Given the description of an element on the screen output the (x, y) to click on. 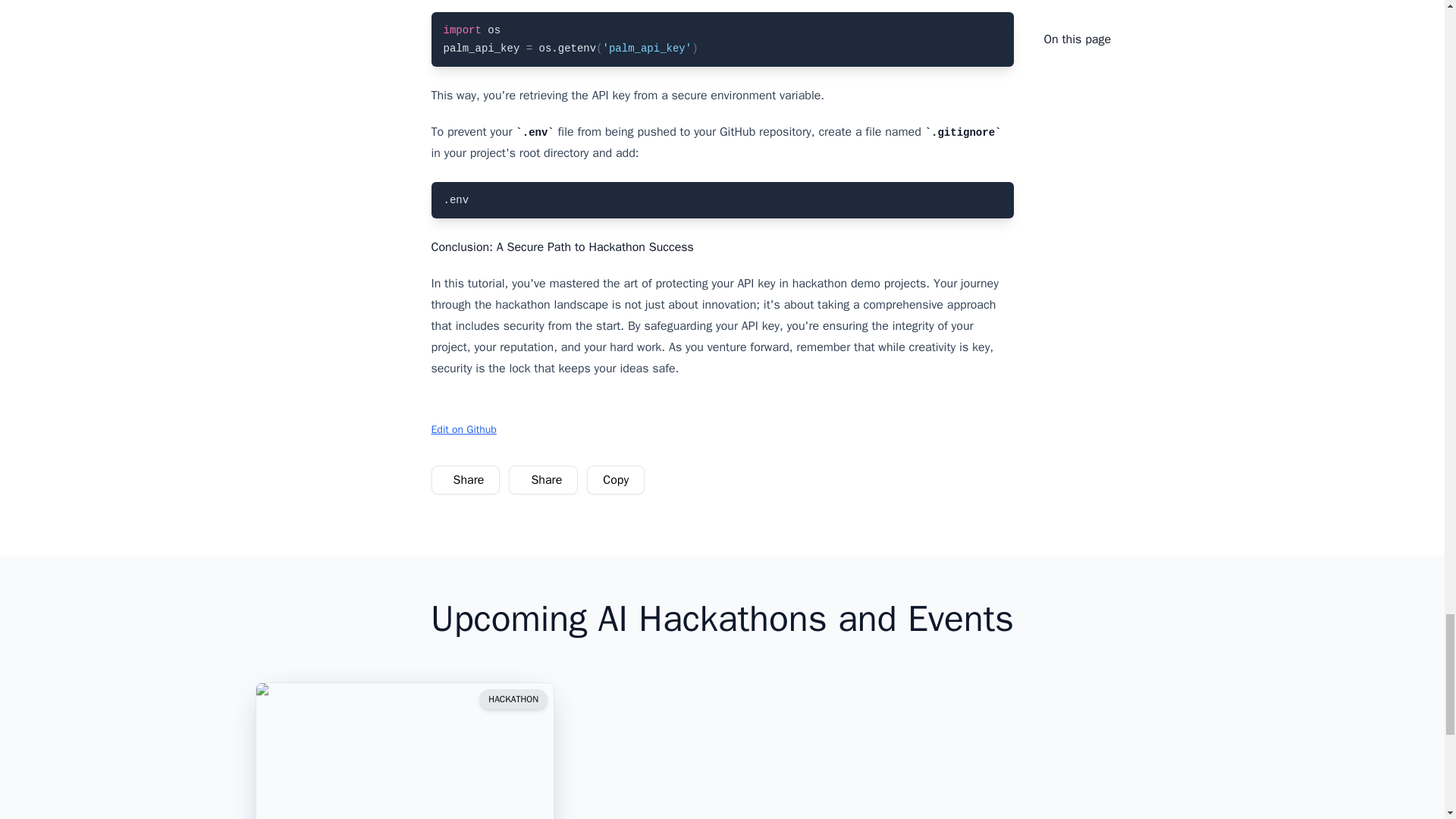
Share (543, 479)
Share (543, 480)
HACKATHON (513, 699)
Share (465, 479)
Share (464, 480)
Copy (615, 480)
Edit on Github (463, 429)
